Given the description of an element on the screen output the (x, y) to click on. 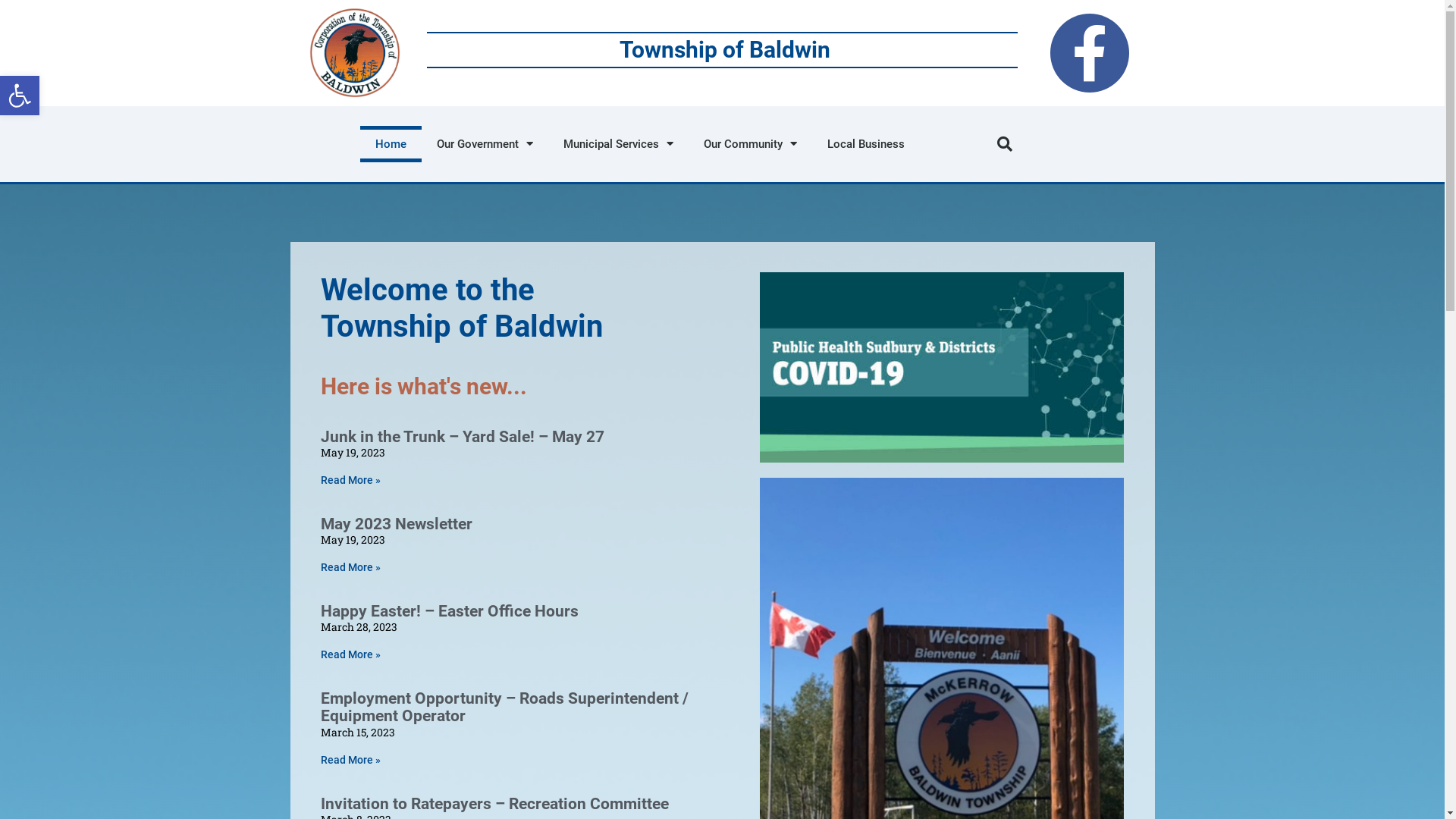
Open toolbar
Accessibility Tools Element type: text (19, 95)
May 2023 Newsletter Element type: text (395, 523)
Our Community Element type: text (750, 143)
Local Business Element type: text (865, 143)
Township of Baldwin Element type: text (724, 49)
Our Government Element type: text (484, 143)
Municipal Services Element type: text (618, 143)
Home Element type: text (390, 143)
